Given the description of an element on the screen output the (x, y) to click on. 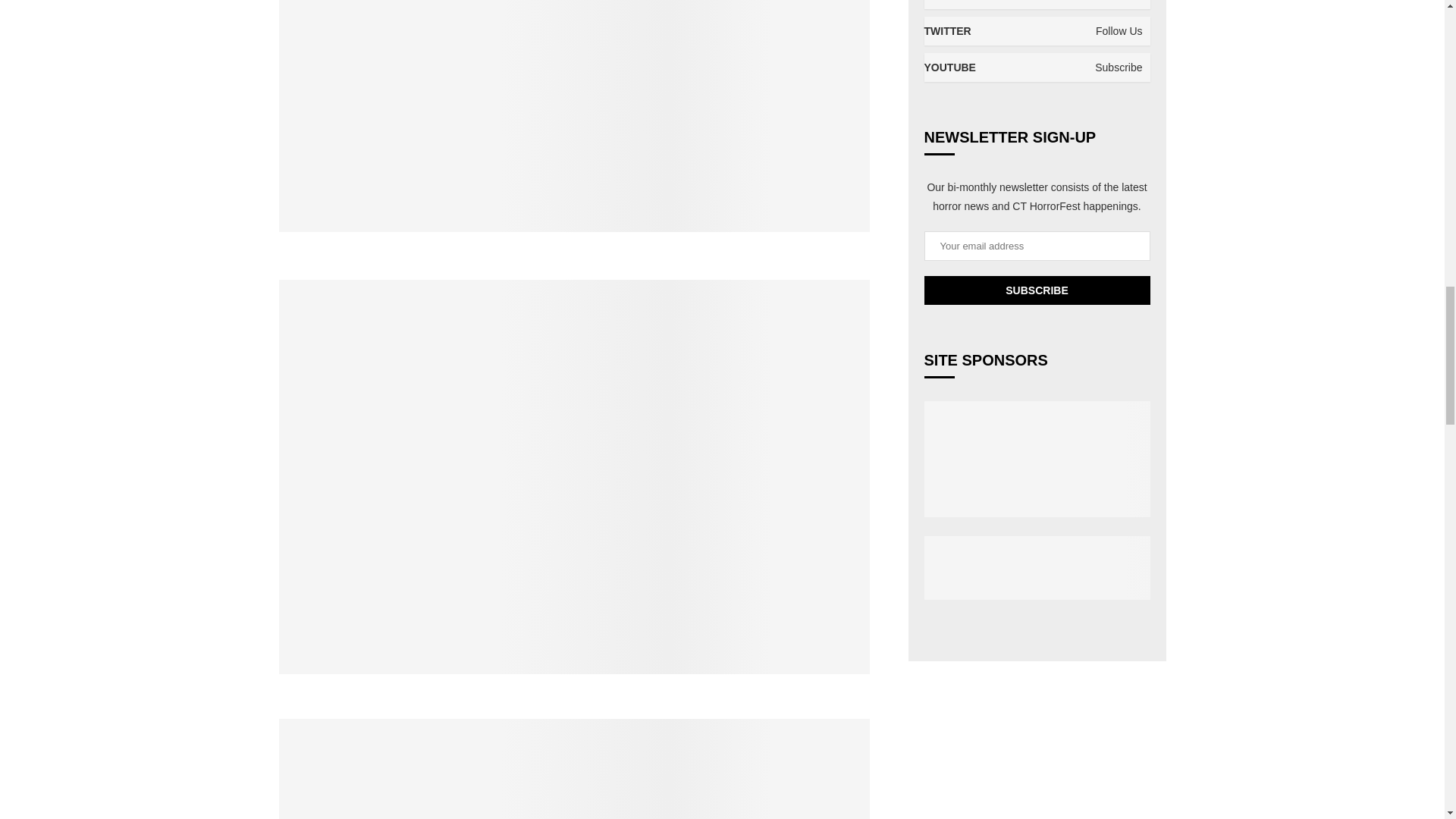
Subscribe (1036, 290)
